Given the description of an element on the screen output the (x, y) to click on. 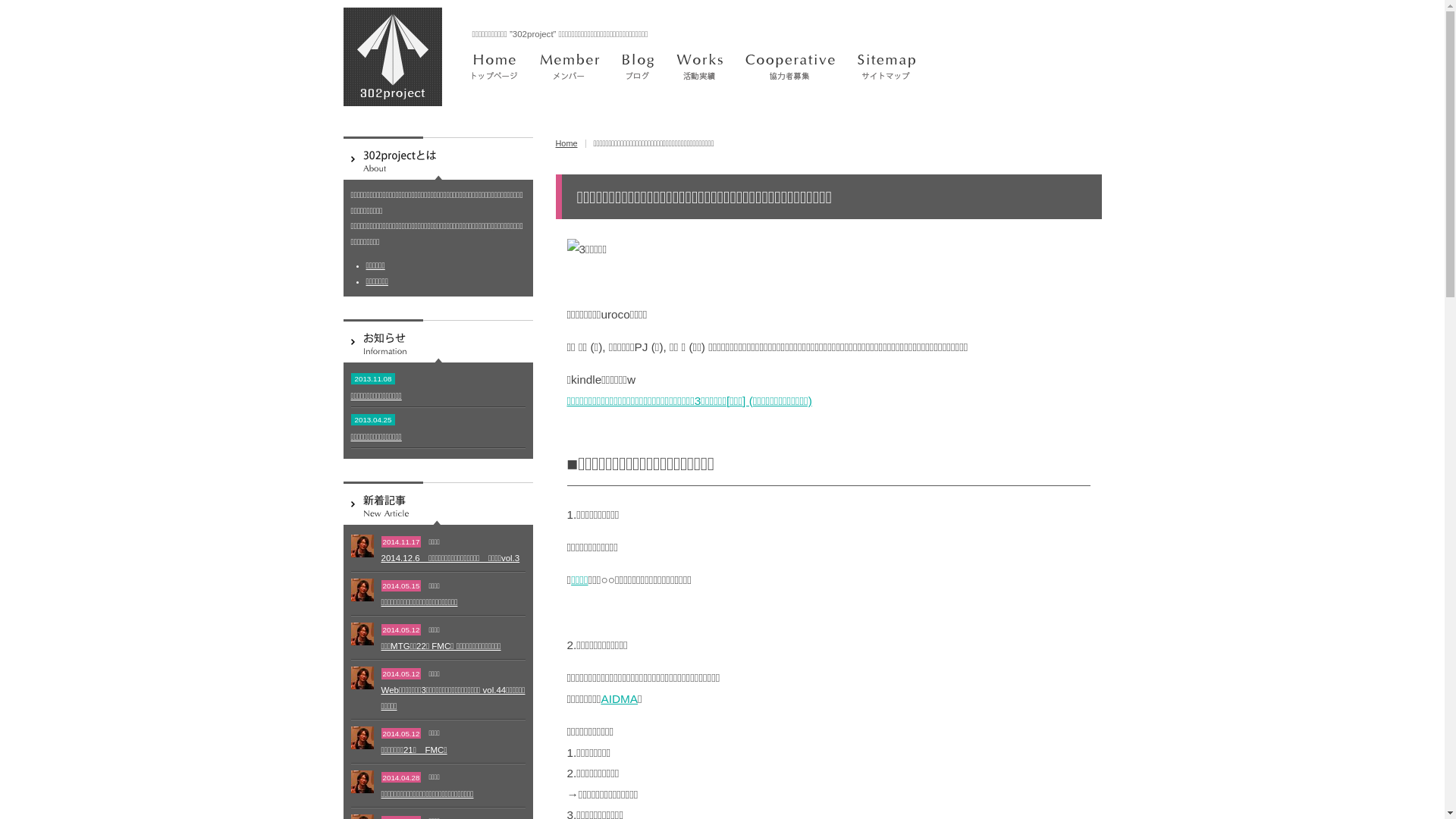
302project Element type: hover (391, 56)
AIDMA Element type: text (618, 698)
Home Element type: text (566, 142)
